Given the description of an element on the screen output the (x, y) to click on. 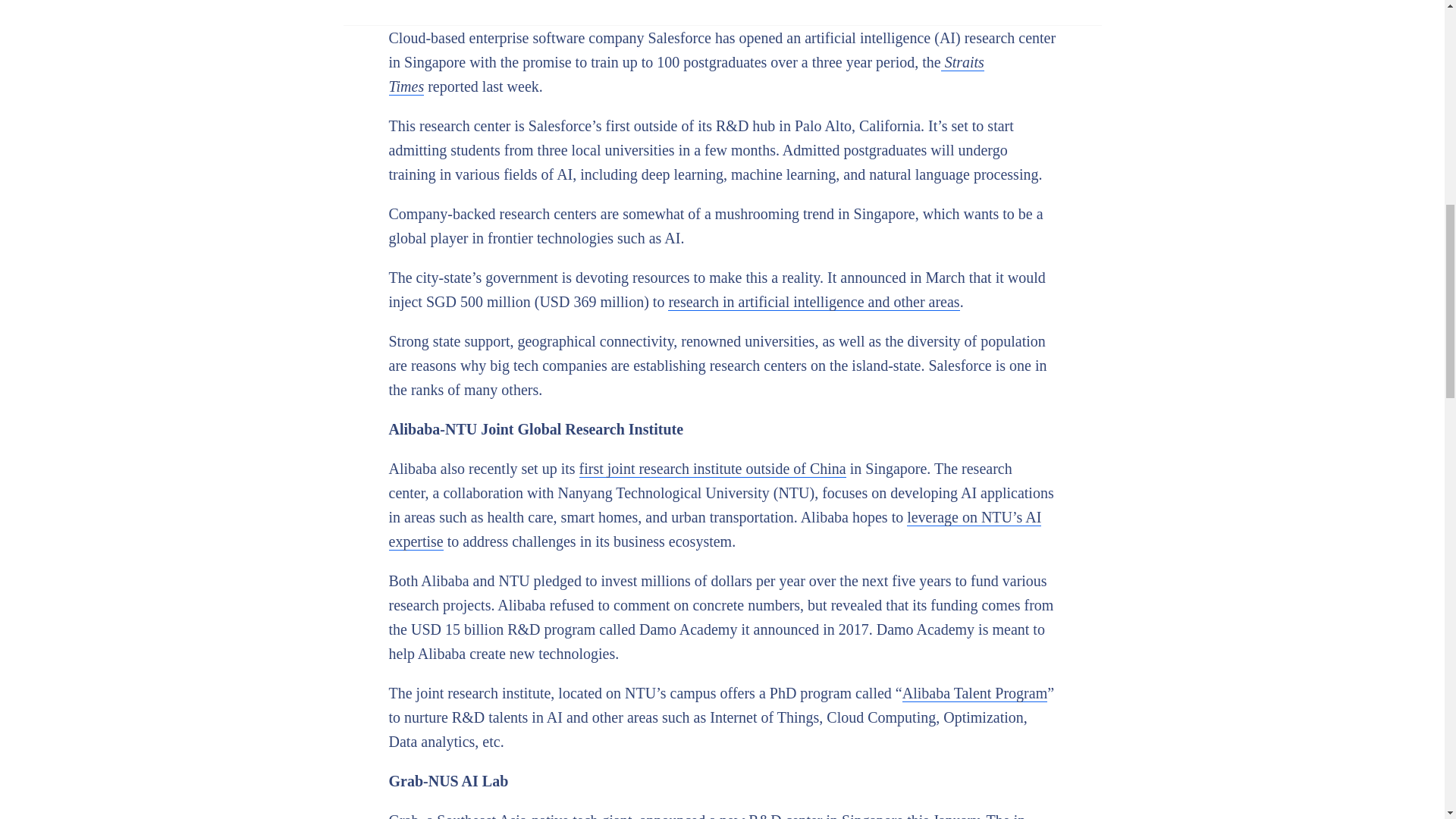
research in artificial intelligence and other areas (813, 302)
Alibaba Talent Program (975, 692)
first joint research institute outside of China (712, 468)
Straits Times (686, 74)
